Given the description of an element on the screen output the (x, y) to click on. 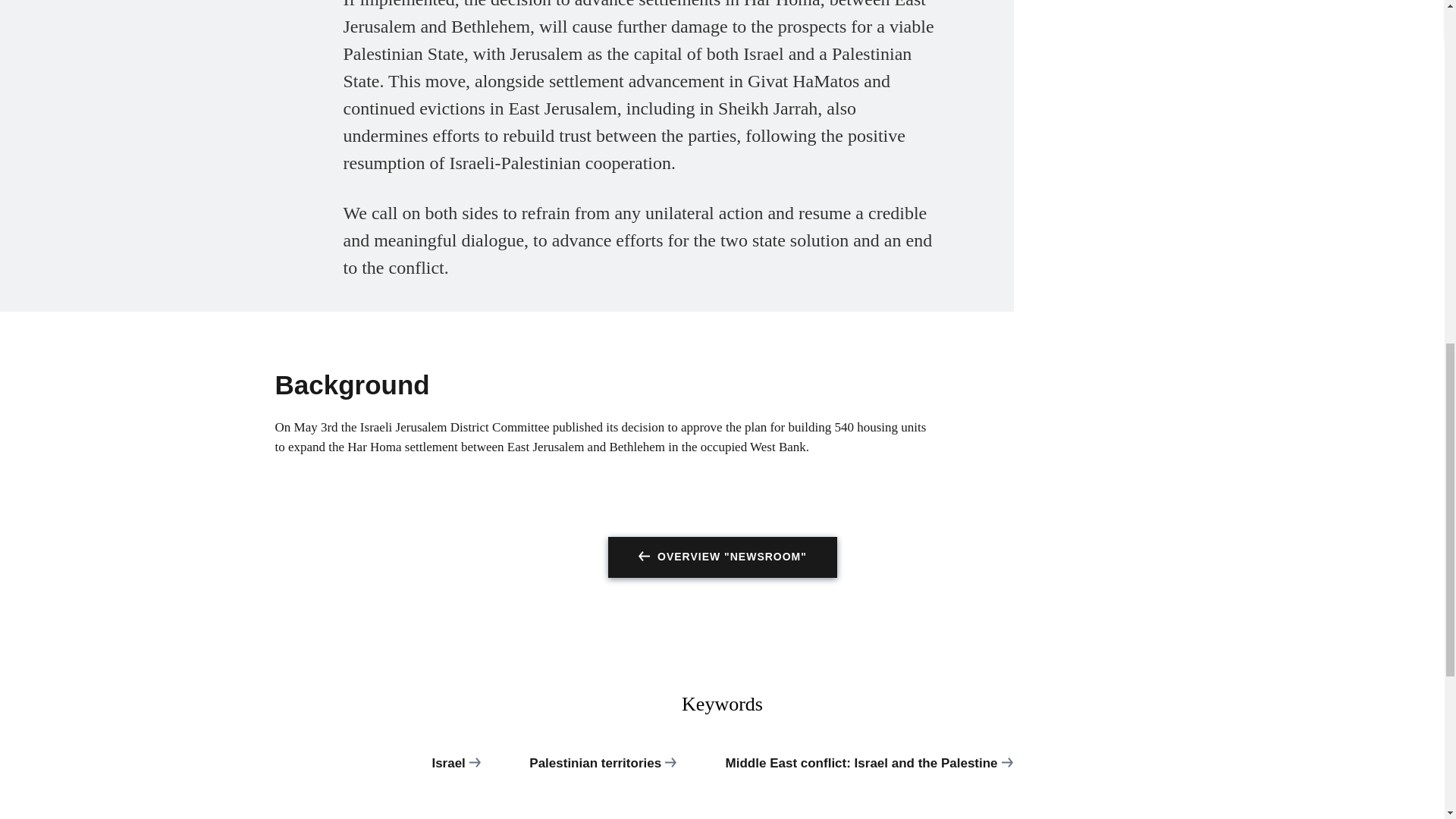
Israel (455, 771)
Overview Newsroom (722, 557)
Middle East conflict: Israel and the Palestine (869, 771)
Palestinian territories (602, 771)
